Given the description of an element on the screen output the (x, y) to click on. 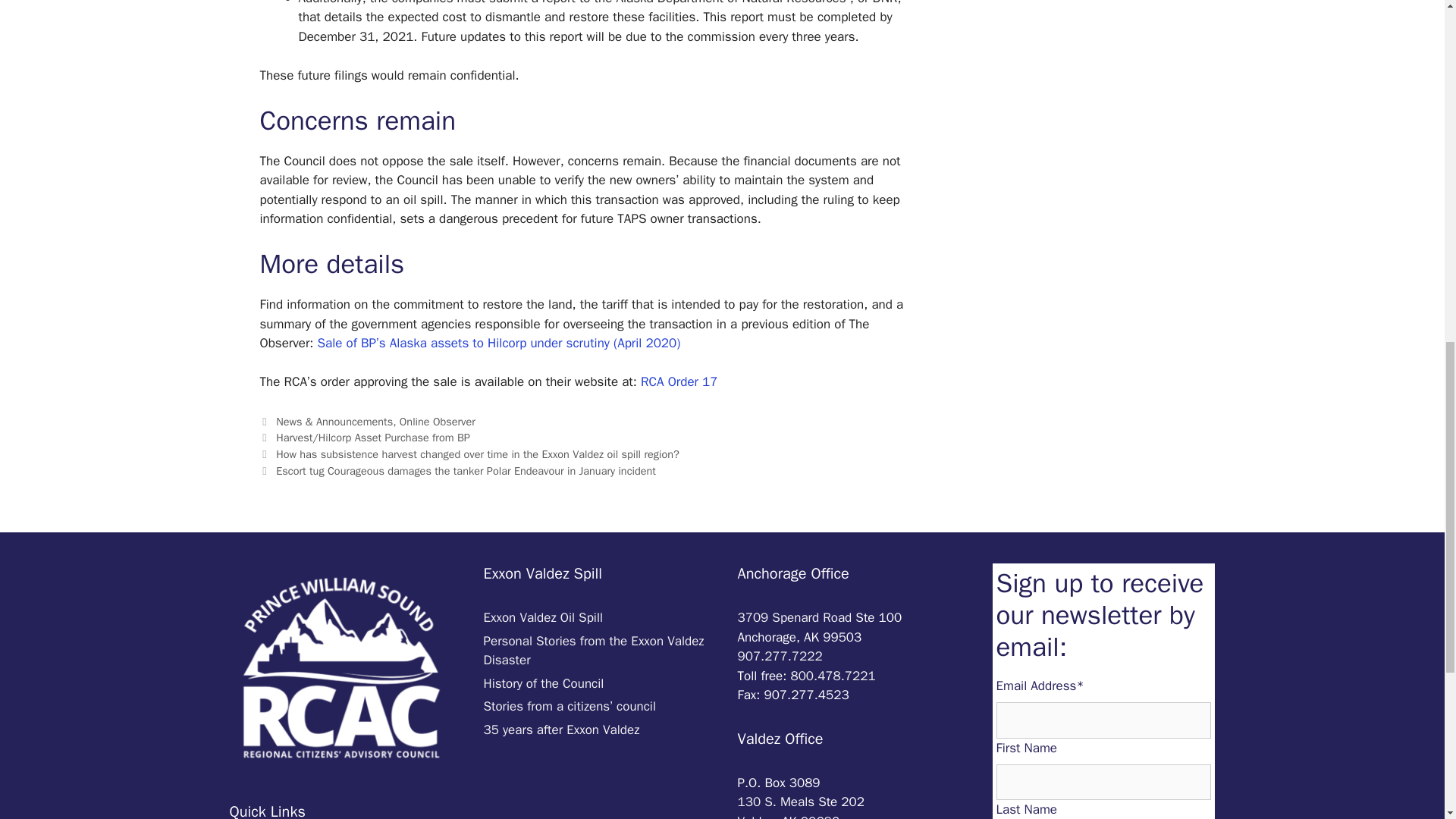
Scroll back to top (1406, 720)
